Given the description of an element on the screen output the (x, y) to click on. 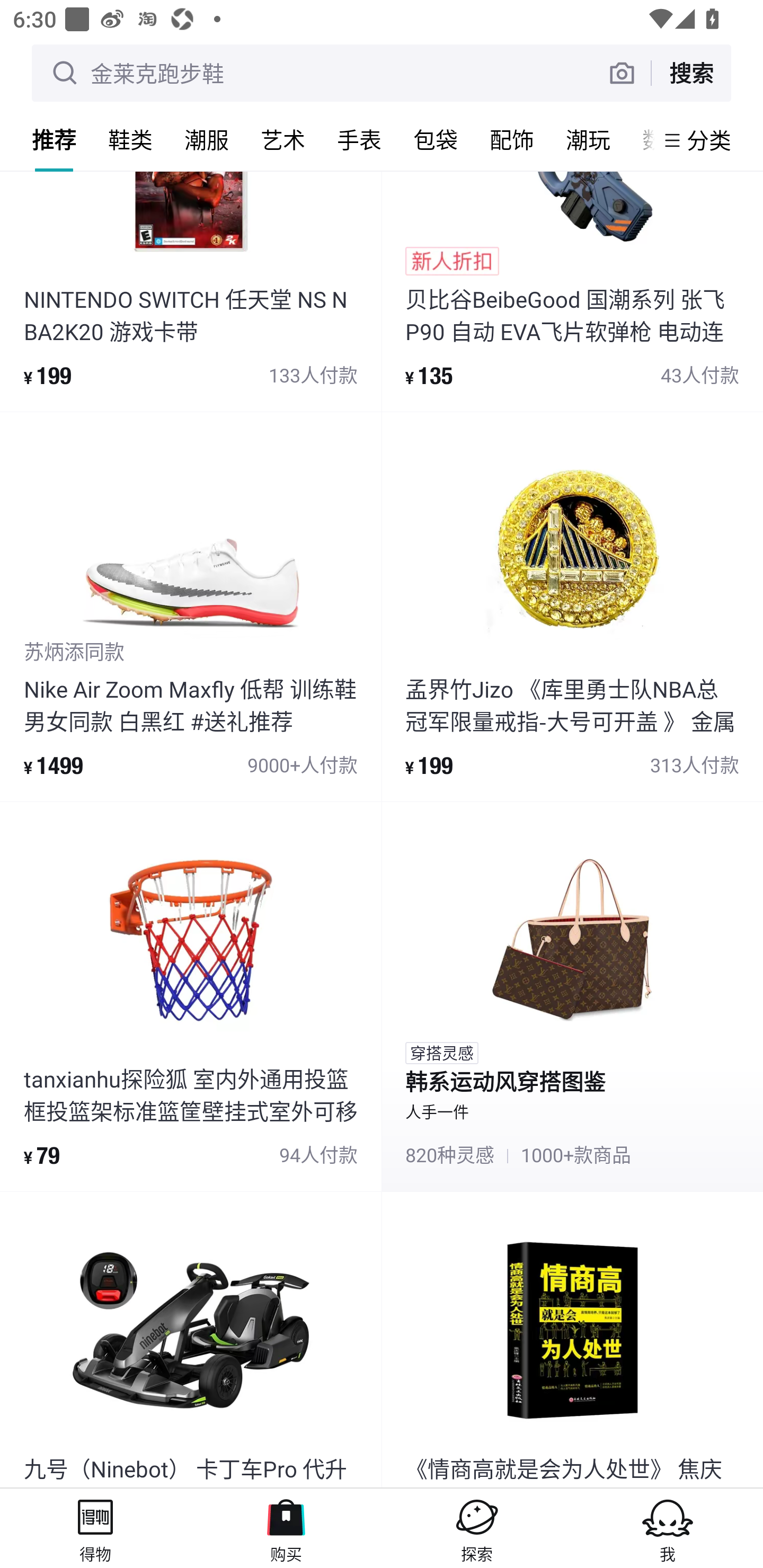
金莱克跑步鞋 搜索 (381, 72)
搜索 (690, 72)
推荐 (54, 139)
鞋类 (130, 139)
潮服 (206, 139)
艺术 (282, 139)
手表 (359, 139)
包袋 (435, 139)
配饰 (511, 139)
潮玩 (588, 139)
分类 (708, 139)
穿搭灵感 韩系运动风穿搭图鉴 人手一件 820种灵感 # 1000+款商品 (572, 996)
product_item 《情商高就是会为人处世》 焦庆
锋 励志 1册 (572, 1339)
得物 (95, 1528)
购买 (285, 1528)
探索 (476, 1528)
我 (667, 1528)
